Given the description of an element on the screen output the (x, y) to click on. 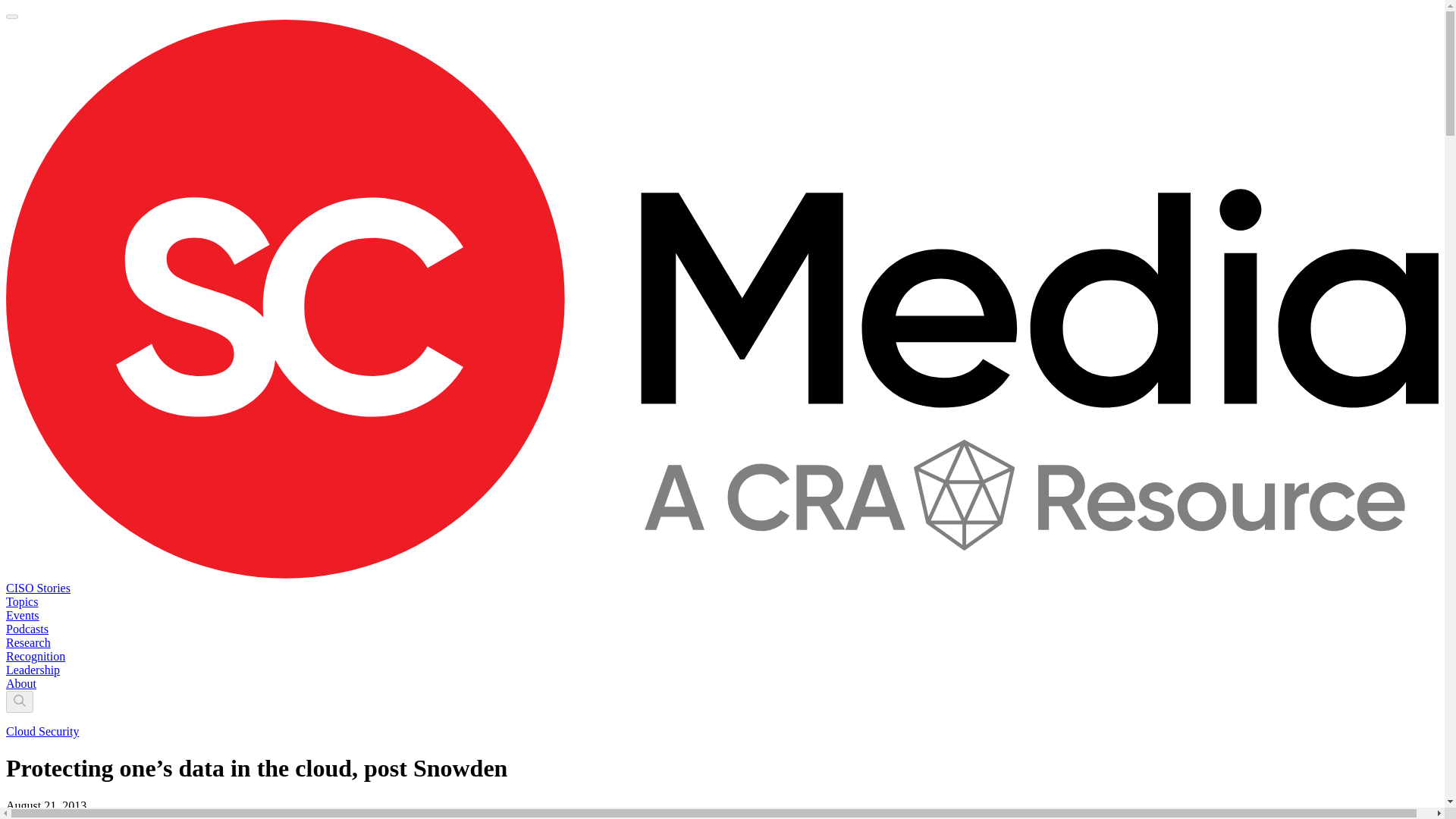
Cloud Security (41, 730)
Recognition (35, 656)
Leadership (32, 669)
Events (22, 615)
About (20, 683)
Podcasts (26, 628)
Topics (21, 601)
Research (27, 642)
CISO Stories (37, 587)
